Given the description of an element on the screen output the (x, y) to click on. 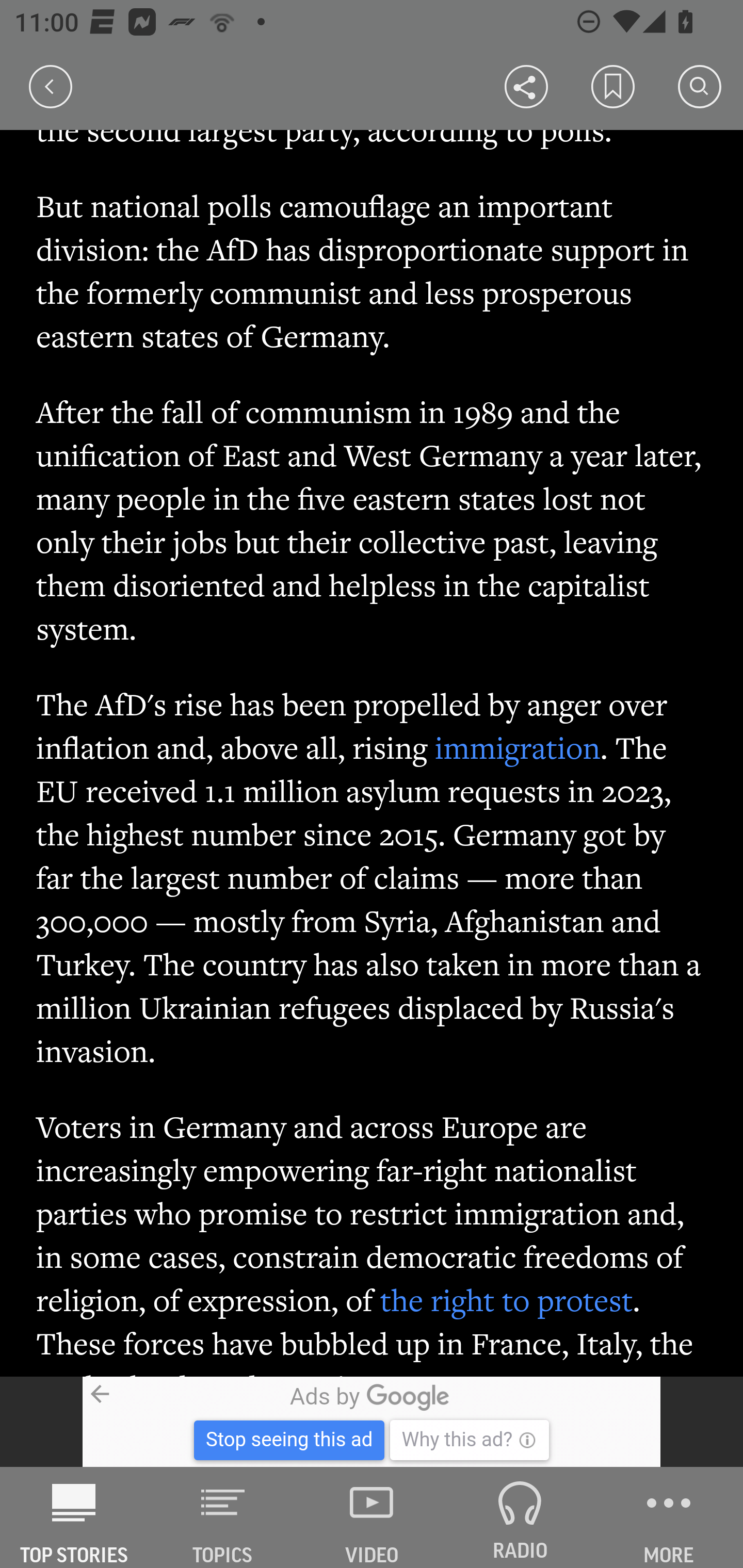
immigration (517, 747)
the right to protest (505, 1299)
tbox%3FDCSext (371, 1421)
AP News TOP STORIES (74, 1517)
TOPICS (222, 1517)
VIDEO (371, 1517)
RADIO (519, 1517)
MORE (668, 1517)
